Given the description of an element on the screen output the (x, y) to click on. 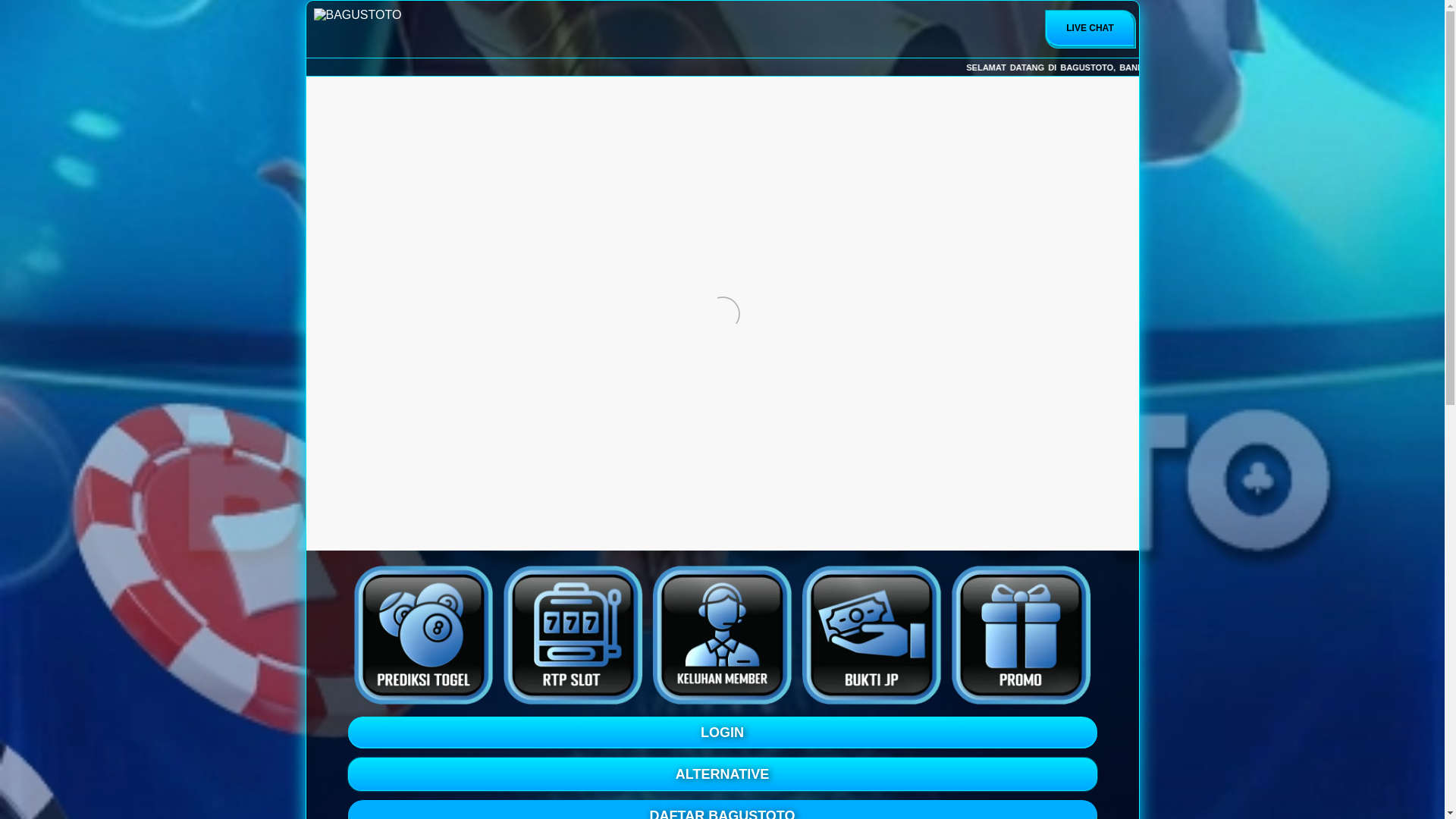
DAFTAR BAGUSTOTO (721, 809)
LIVE CHAT (1090, 28)
ALTERNATIVE (721, 774)
LOGIN (721, 732)
